Given the description of an element on the screen output the (x, y) to click on. 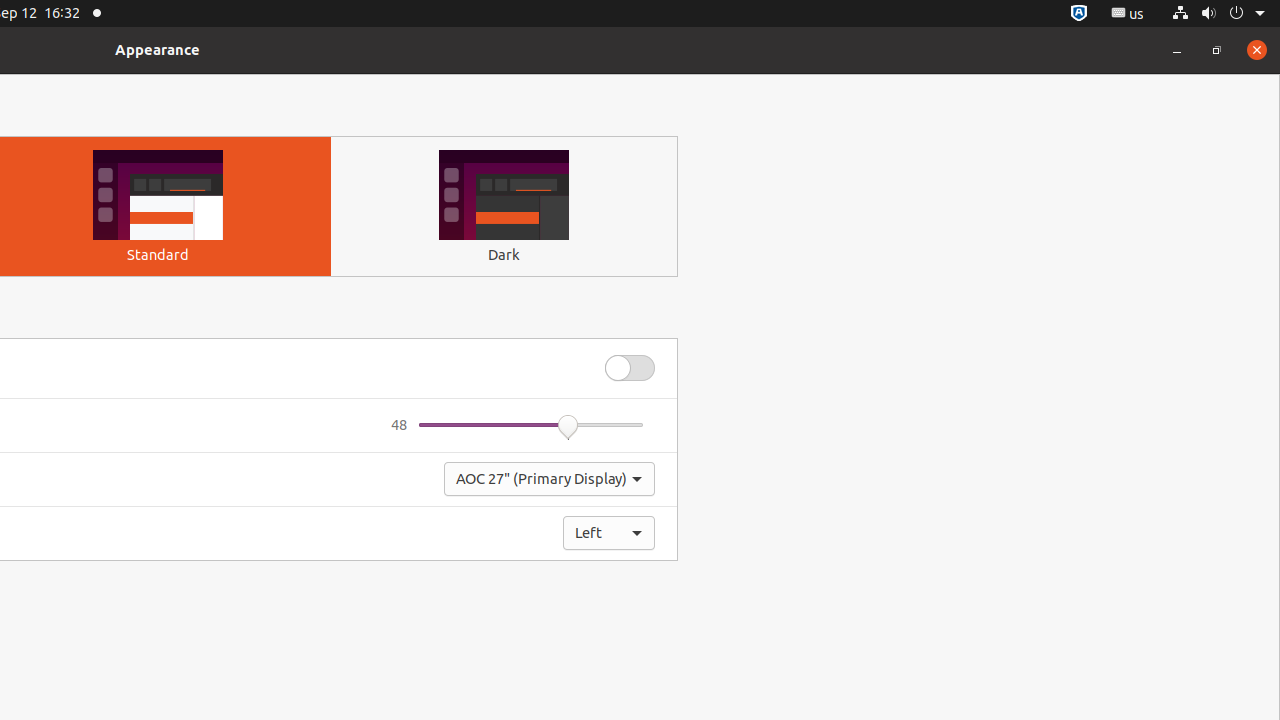
Close Element type: push-button (1257, 50)
Left Element type: combo-box (609, 533)
Restore Element type: push-button (1217, 50)
